Given the description of an element on the screen output the (x, y) to click on. 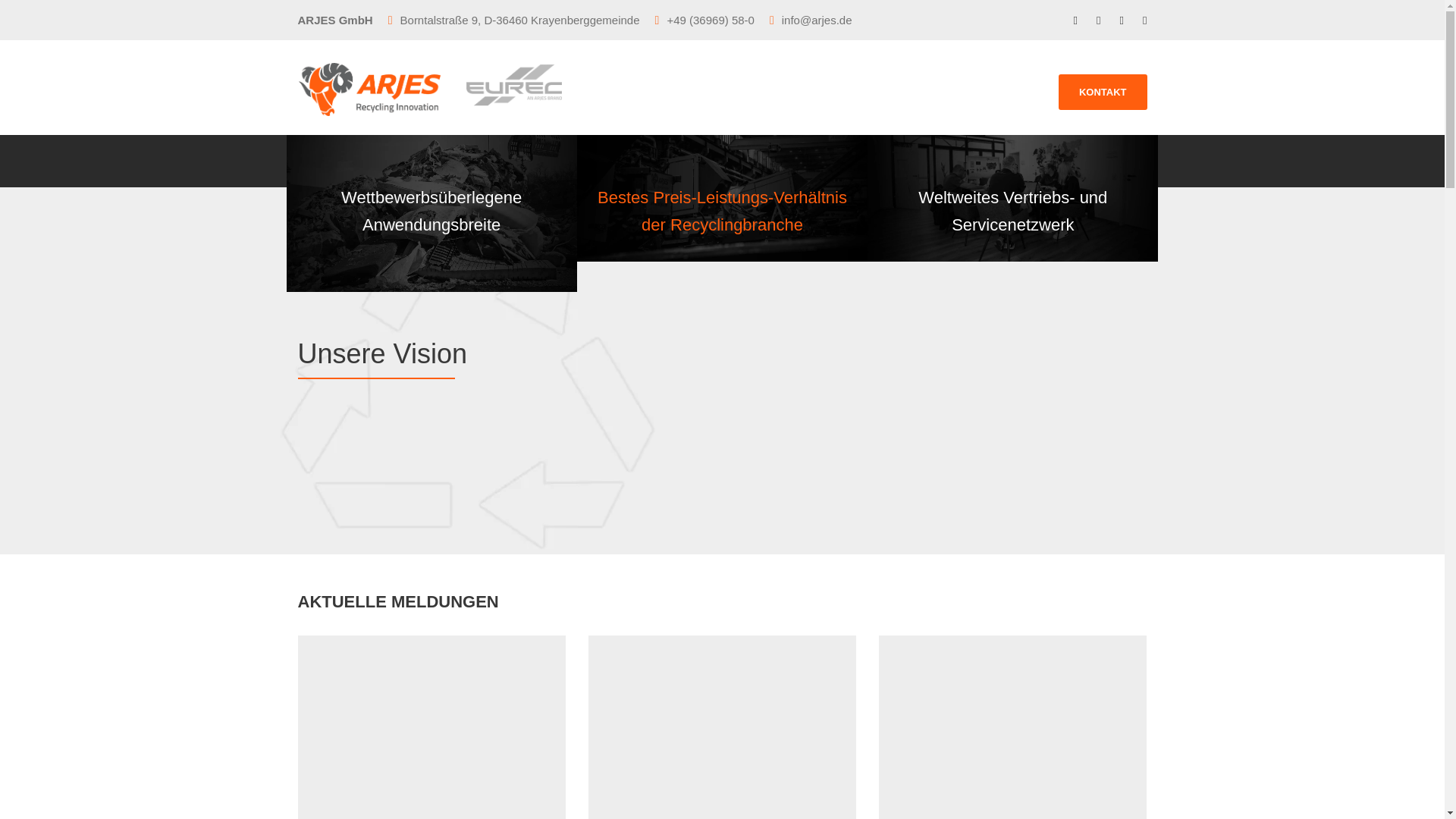
ARJES Vertriebsteam Deutschland (1013, 724)
EuRec (513, 88)
logo-nav-arjes (369, 88)
